Given the description of an element on the screen output the (x, y) to click on. 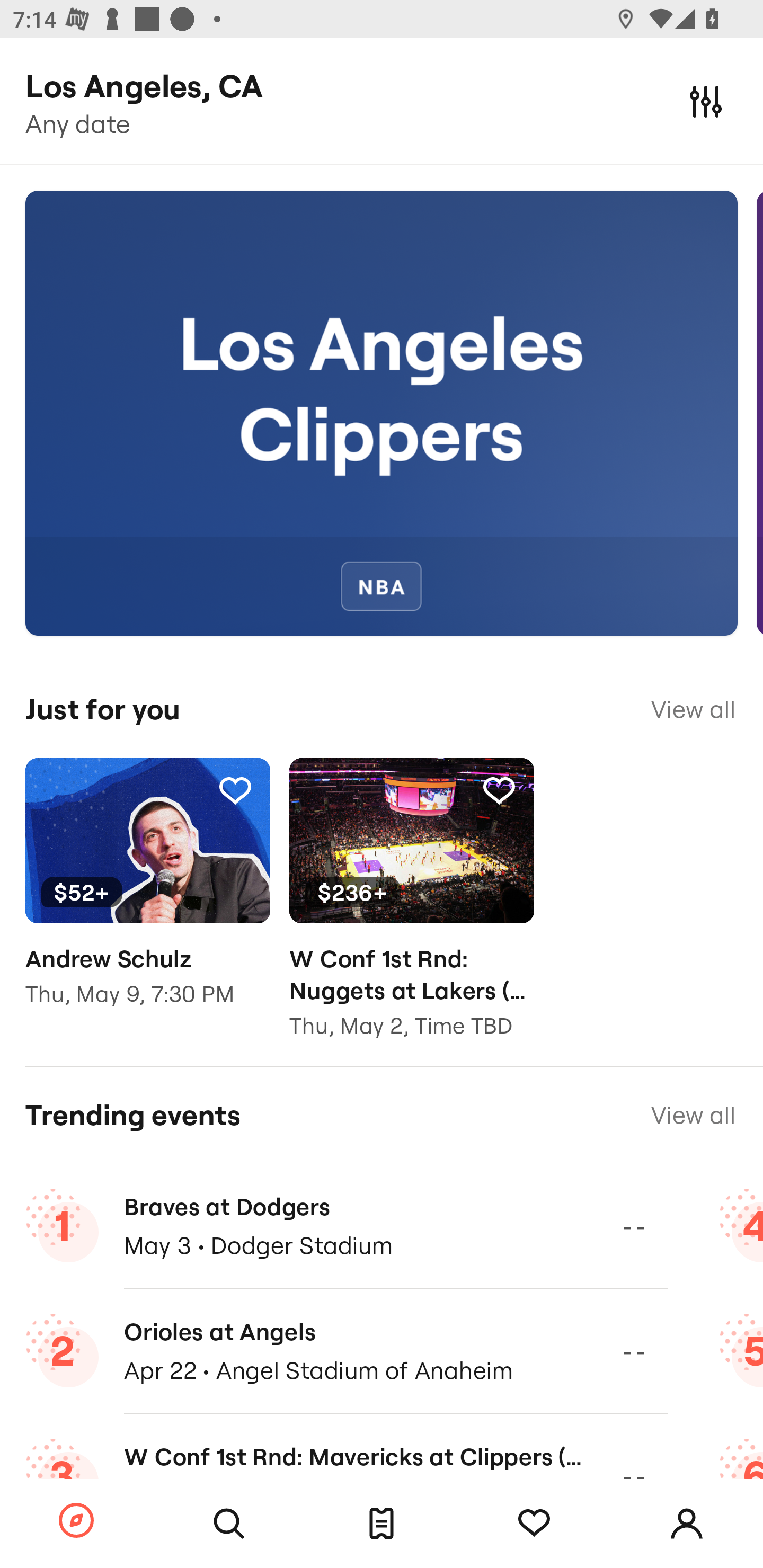
Filters (705, 100)
View all (693, 709)
Tracking $52+ Andrew Schulz Thu, May 9, 7:30 PM (147, 895)
Tracking (234, 790)
Tracking (498, 790)
View all (693, 1114)
Browse (76, 1521)
Search (228, 1523)
Tickets (381, 1523)
Tracking (533, 1523)
Account (686, 1523)
